Given the description of an element on the screen output the (x, y) to click on. 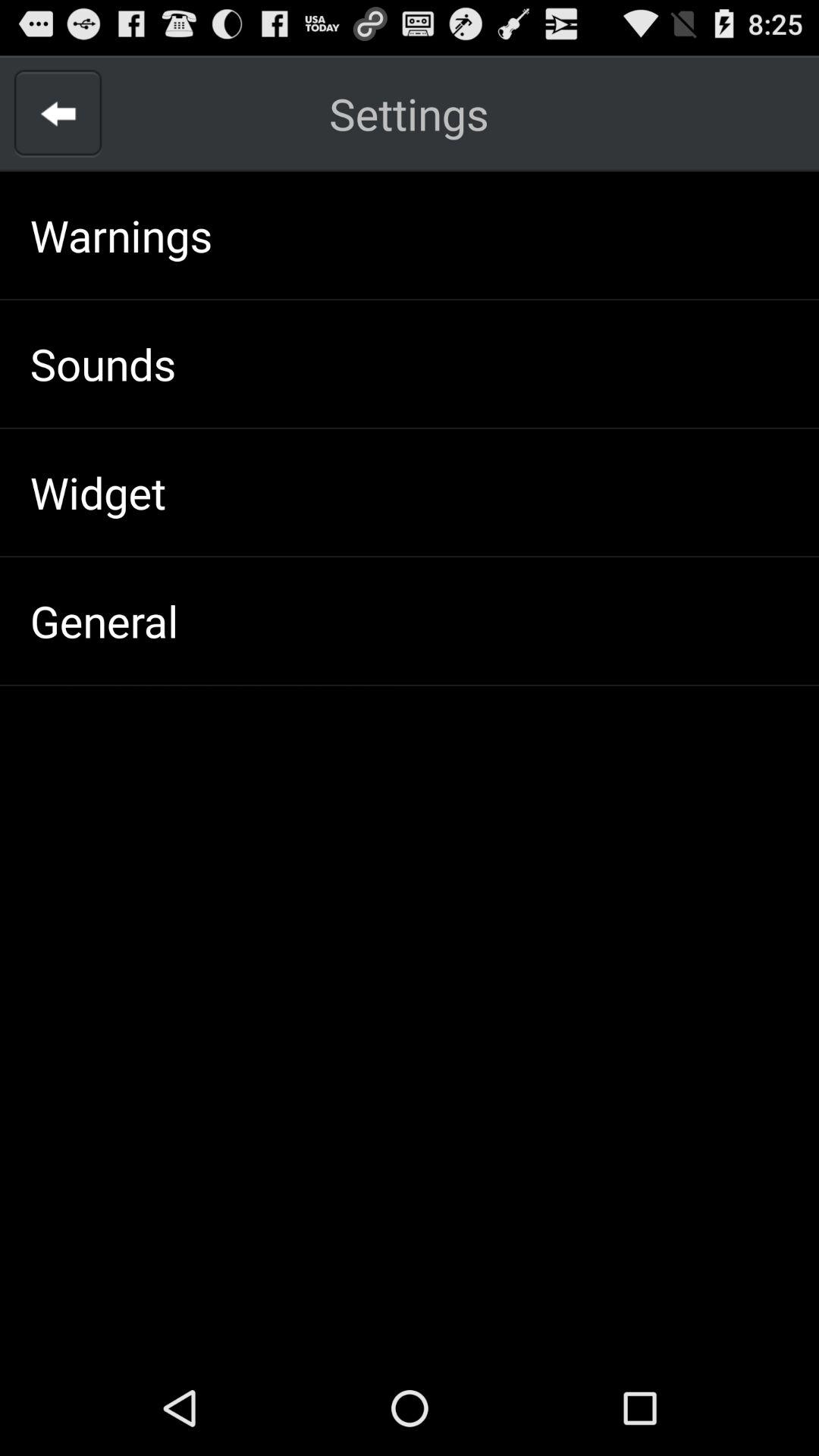
open icon below warnings app (103, 363)
